Given the description of an element on the screen output the (x, y) to click on. 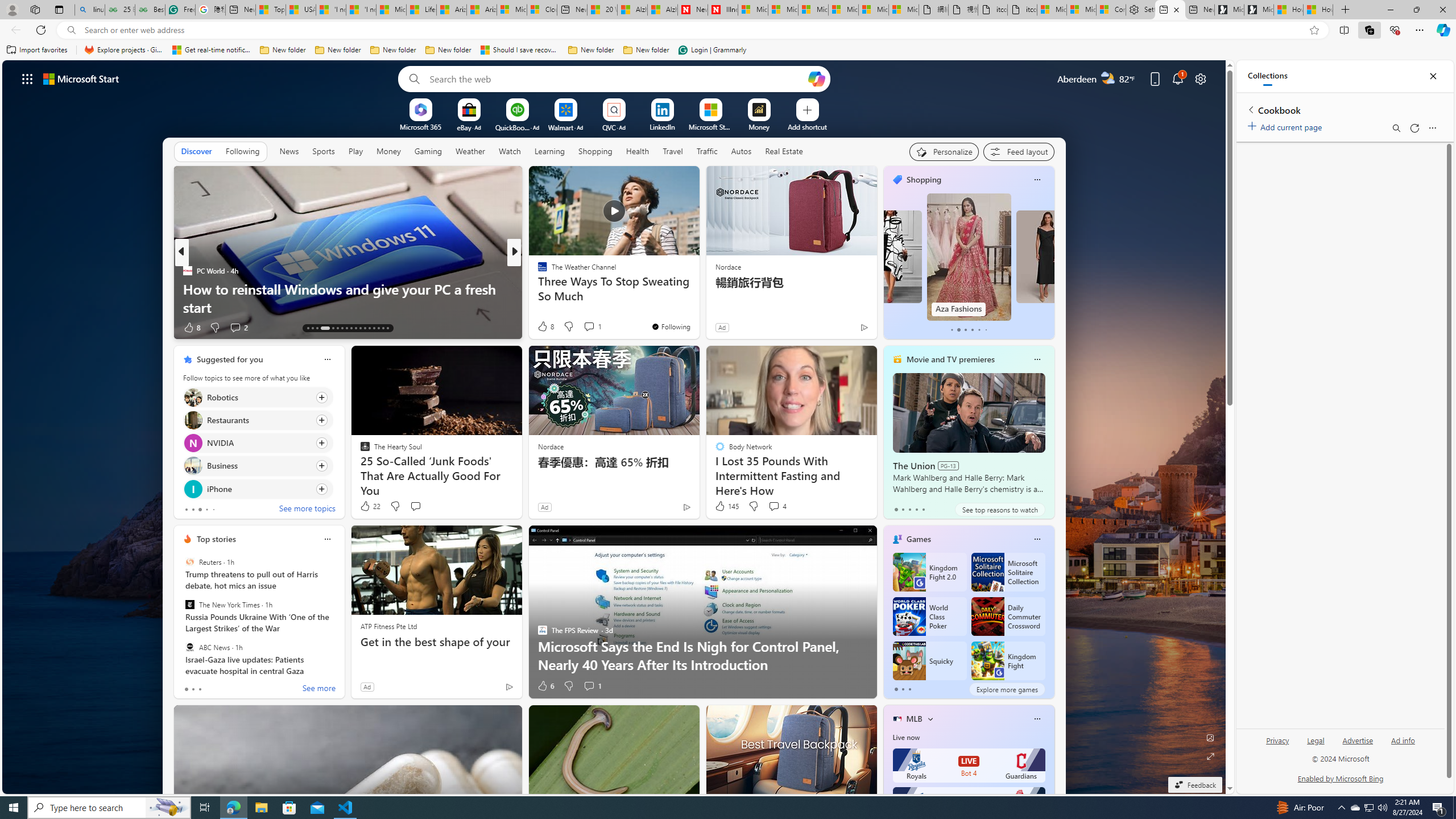
Click to follow topic iPhone (257, 488)
Reuters (189, 561)
Play (354, 151)
Cheapism (537, 288)
Top stories (215, 538)
Click to follow topic NVIDIA (257, 442)
ABC News (189, 646)
